Given the description of an element on the screen output the (x, y) to click on. 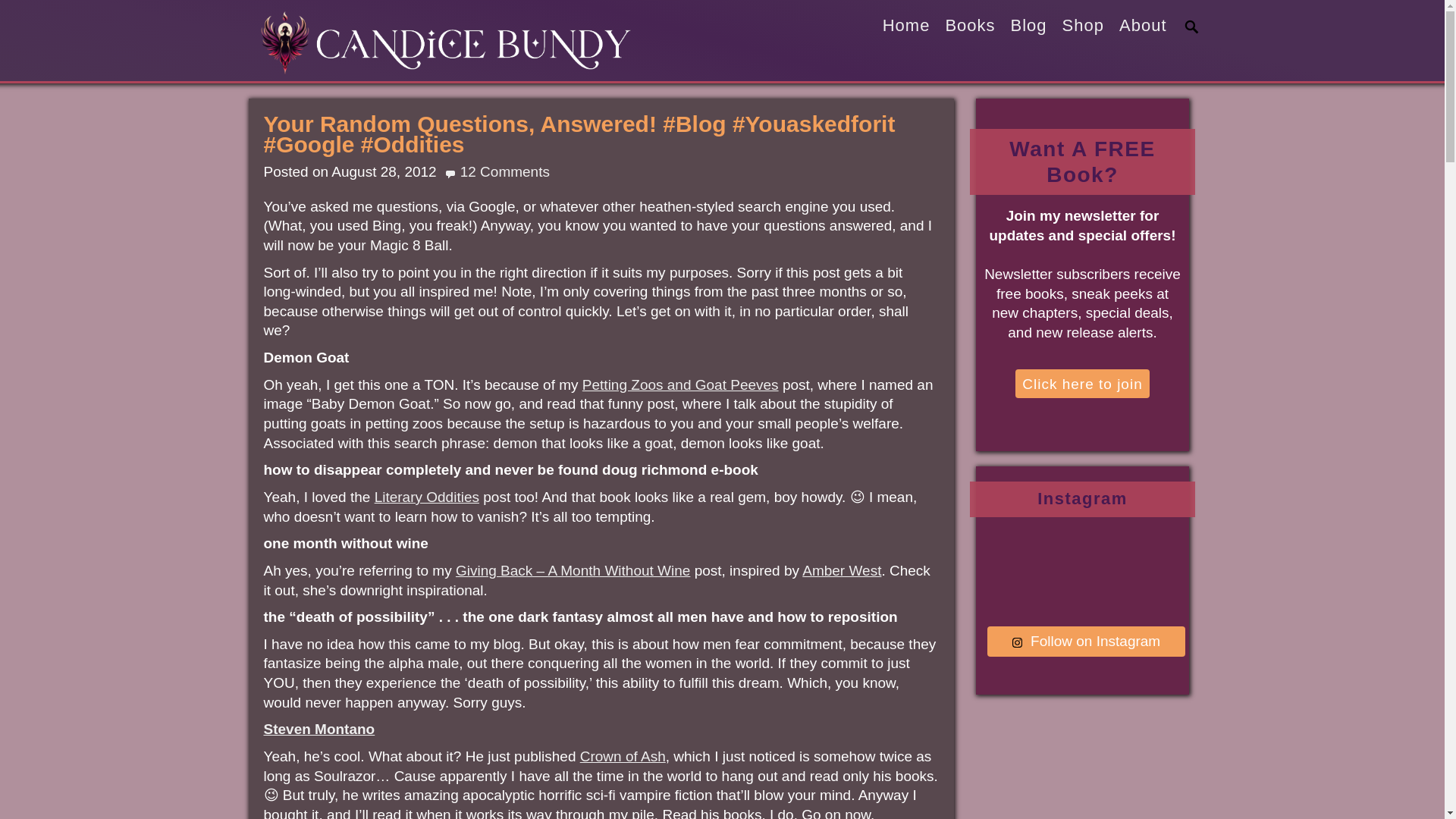
Petting Zoos and Goat Peeves (680, 384)
Blood Skies (319, 729)
Blog (1028, 25)
Petting Zoos and Goat Peeves (680, 384)
Home (906, 25)
Steven Montano (319, 729)
Books (970, 25)
Shop (1083, 25)
Crown of Ash (622, 756)
About (1143, 25)
